Given the description of an element on the screen output the (x, y) to click on. 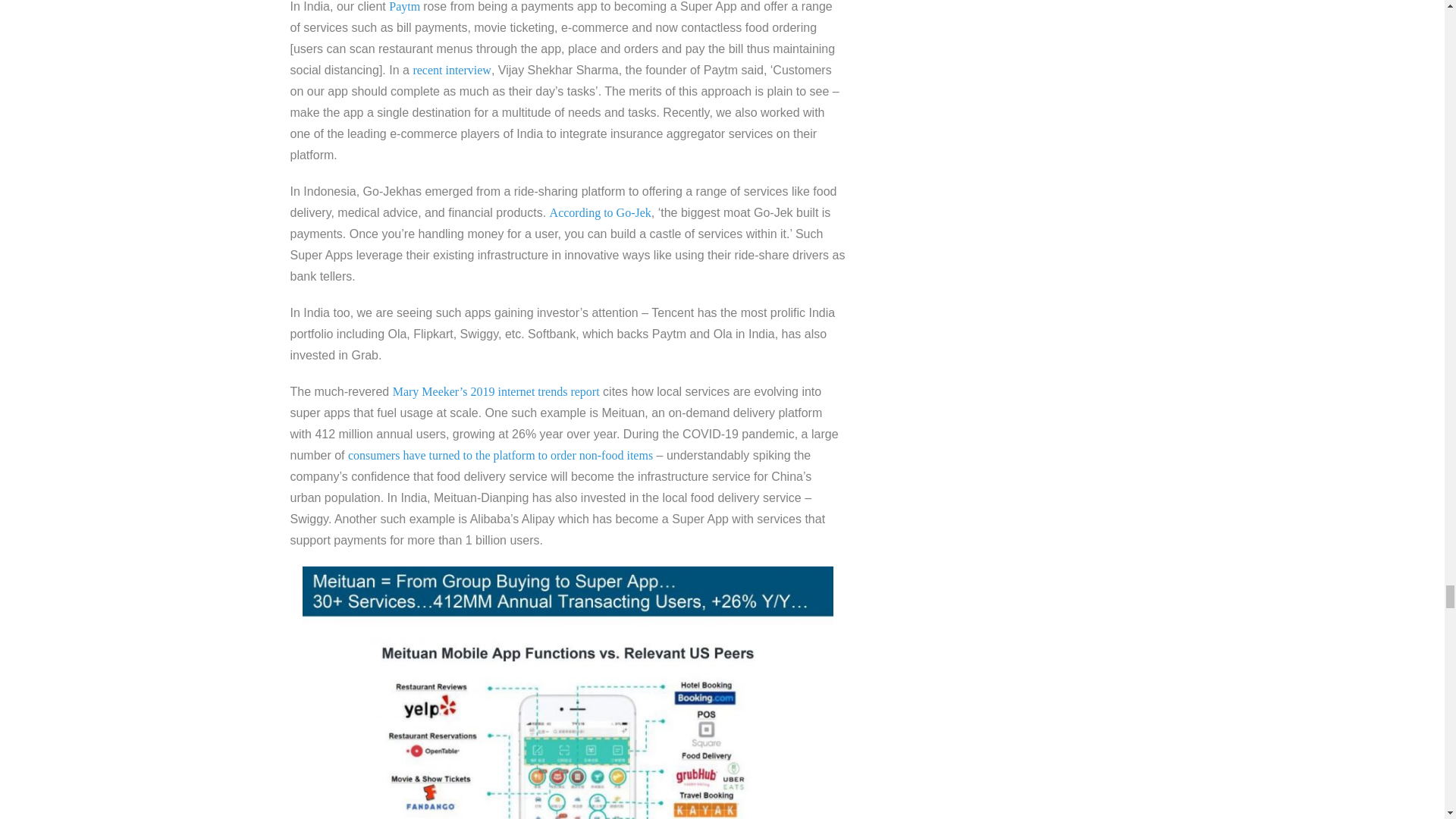
Mary Meeker Internet Trends Report (566, 692)
